Given the description of an element on the screen output the (x, y) to click on. 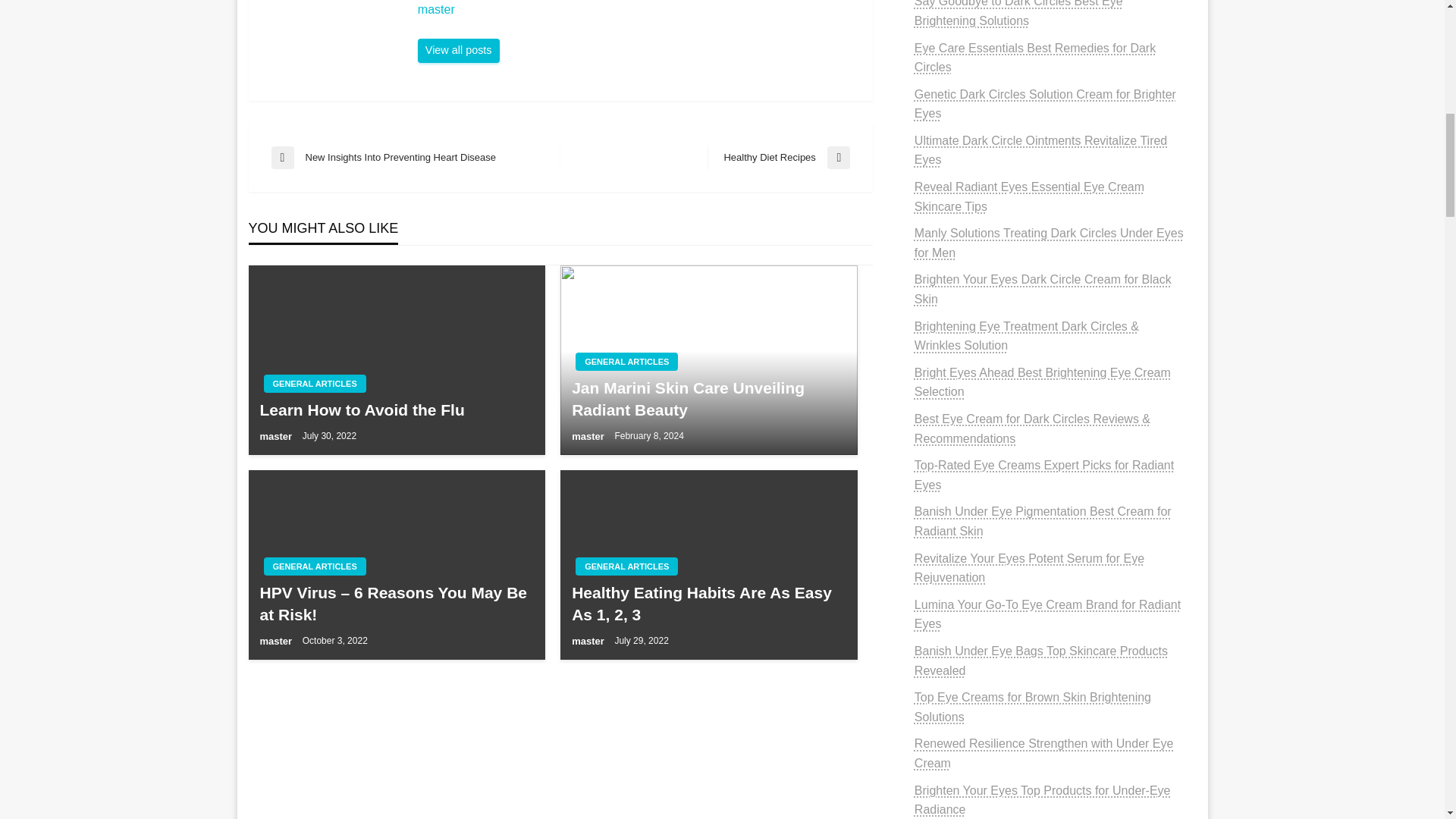
Jan Marini Skin Care Unveiling Radiant Beauty (708, 398)
GENERAL ARTICLES (626, 566)
master (415, 157)
GENERAL ARTICLES (777, 157)
Learn How to Avoid the Flu (276, 641)
master (314, 566)
GENERAL ARTICLES (396, 409)
master (276, 436)
master (626, 361)
master (637, 9)
View all posts (589, 436)
GENERAL ARTICLES (637, 9)
master (458, 50)
